Given the description of an element on the screen output the (x, y) to click on. 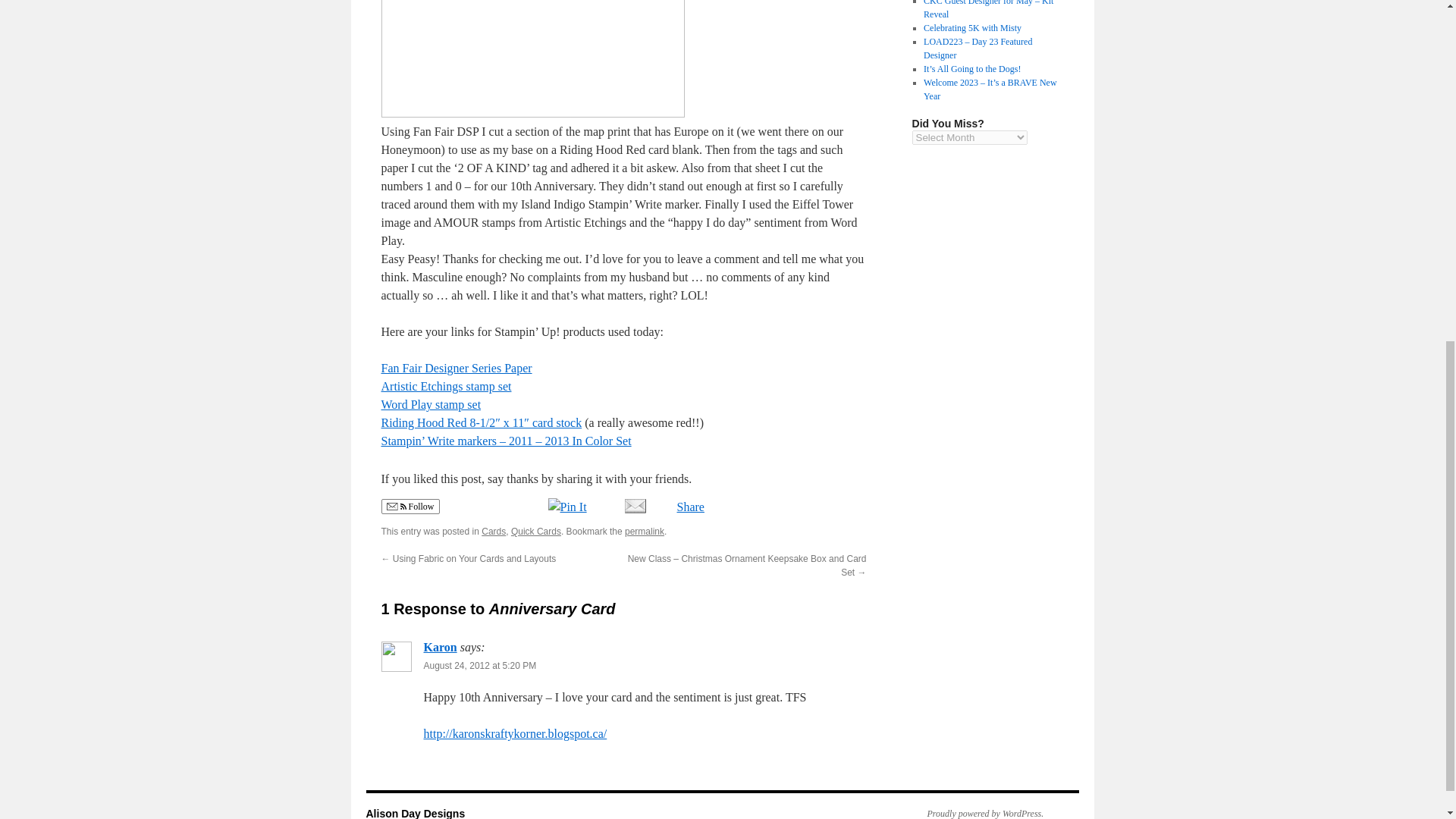
Email, RSS (396, 507)
Fan Fair Designer Series Paper (455, 367)
Permalink to Anniversary Card (643, 531)
Share (682, 506)
Word Play stamp set (430, 404)
Email (634, 505)
Quick Cards (535, 531)
Karon (440, 646)
Cards (493, 531)
Artistic Etchings stamp set (445, 386)
